Given the description of an element on the screen output the (x, y) to click on. 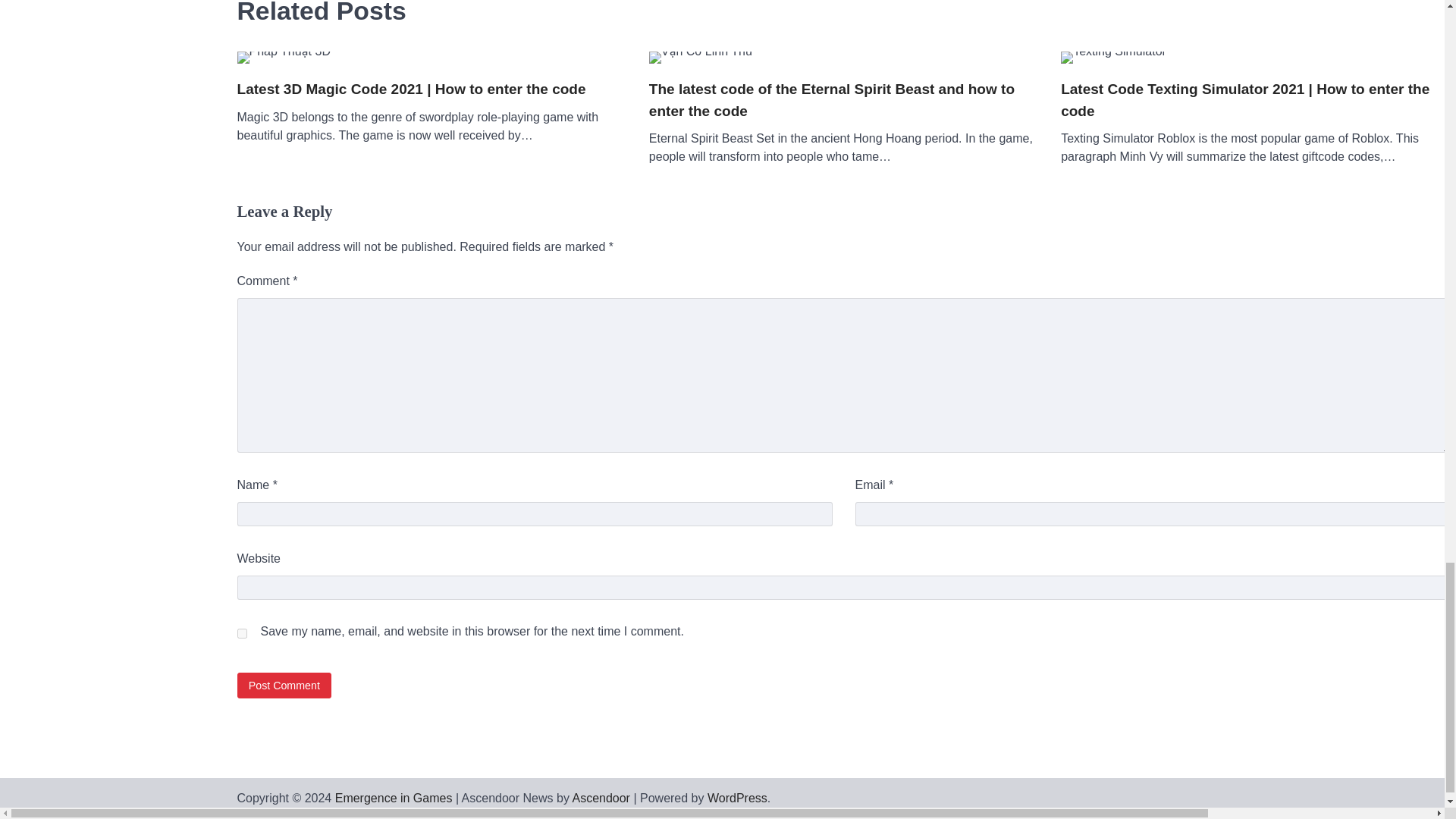
Post Comment (283, 684)
Post Comment (283, 684)
yes (240, 633)
